Given the description of an element on the screen output the (x, y) to click on. 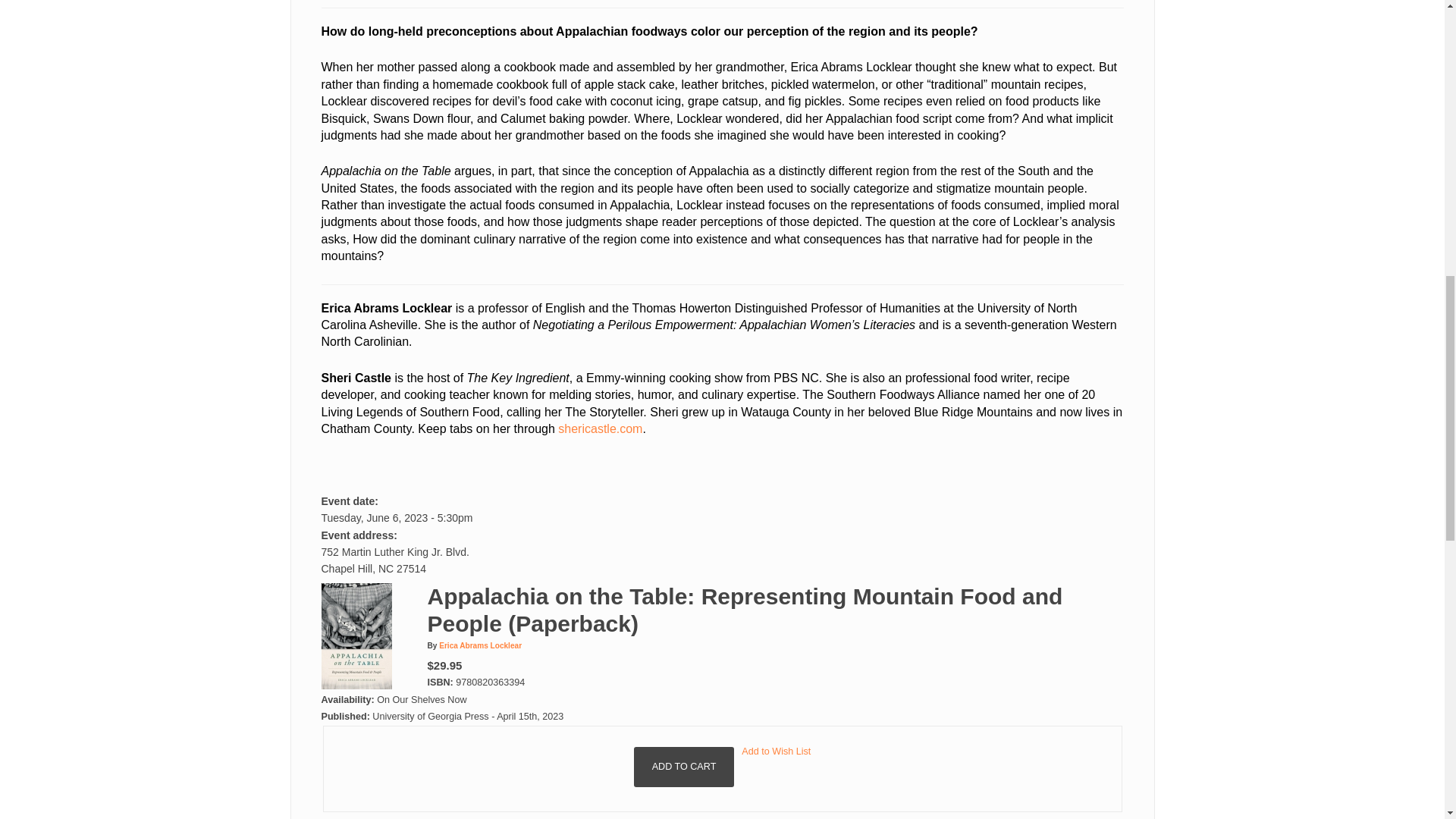
Add to Cart (684, 766)
